Given the description of an element on the screen output the (x, y) to click on. 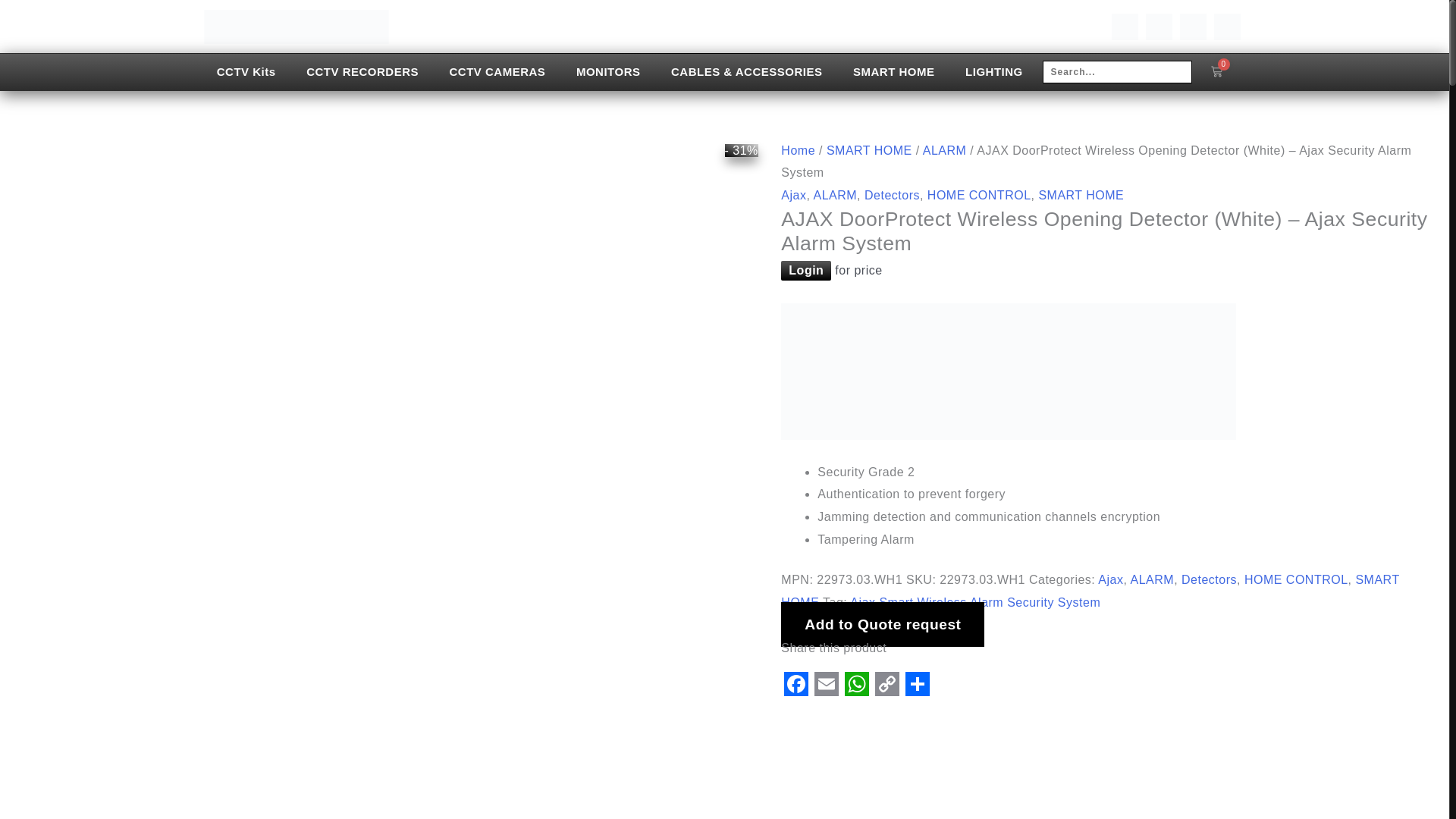
CCTV CAMERAS (496, 72)
MONITORS (608, 72)
CCTV Kits (246, 72)
CCTV RECORDERS (362, 72)
Facebook (795, 683)
WhatsApp (856, 683)
Copy Link (887, 683)
Email (825, 683)
